Given the description of an element on the screen output the (x, y) to click on. 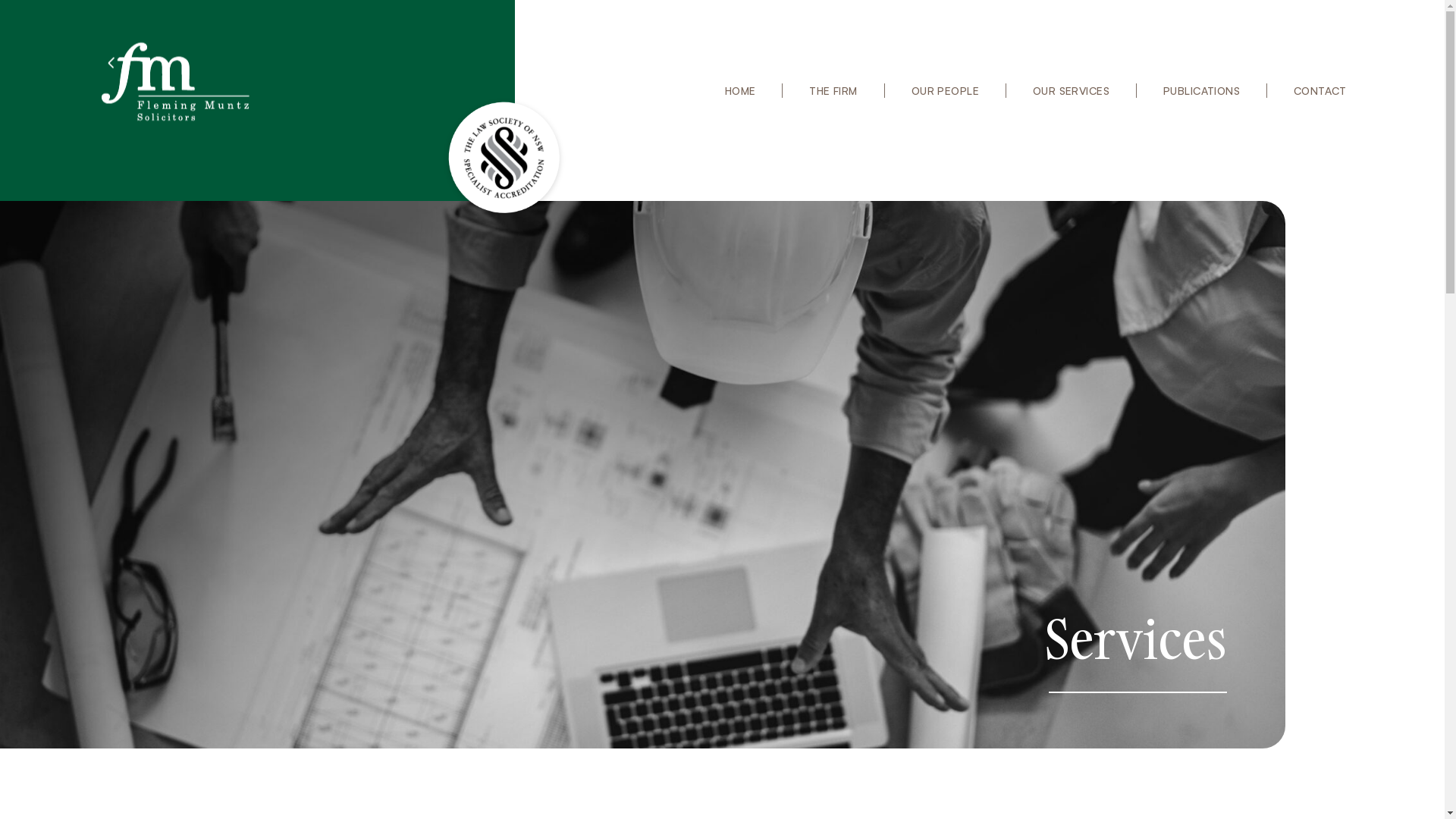
THE FIRM Element type: text (832, 90)
OUR PEOPLE Element type: text (945, 90)
PUBLICATIONS Element type: text (1201, 90)
OUR SERVICES Element type: text (1070, 90)
HOME Element type: text (740, 90)
CONTACT Element type: text (1319, 90)
